Given the description of an element on the screen output the (x, y) to click on. 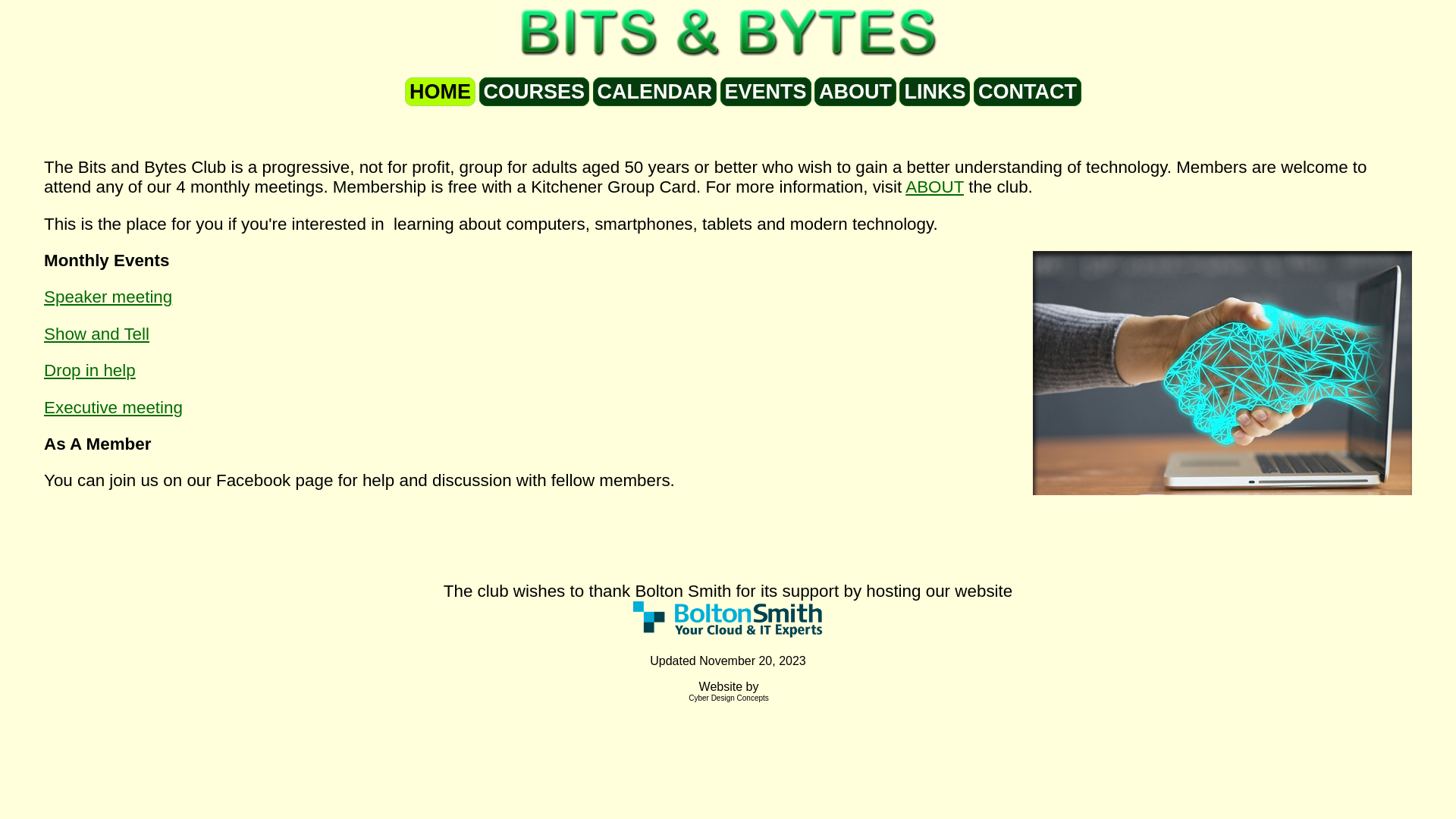
Drop in help Element type: text (89, 369)
ABOUT Element type: text (855, 91)
LINKS Element type: text (934, 91)
CONTACT Element type: text (1027, 91)
Executive meeting Element type: text (112, 407)
Cyber Design Concepts Element type: text (728, 697)
Speaker meeting Element type: text (107, 296)
Show and Tell Element type: text (96, 333)
EVENTS Element type: text (765, 91)
CALENDAR Element type: text (655, 91)
ABOUT Element type: text (934, 186)
HOME Element type: text (439, 91)
COURSES Element type: text (534, 91)
